Given the description of an element on the screen output the (x, y) to click on. 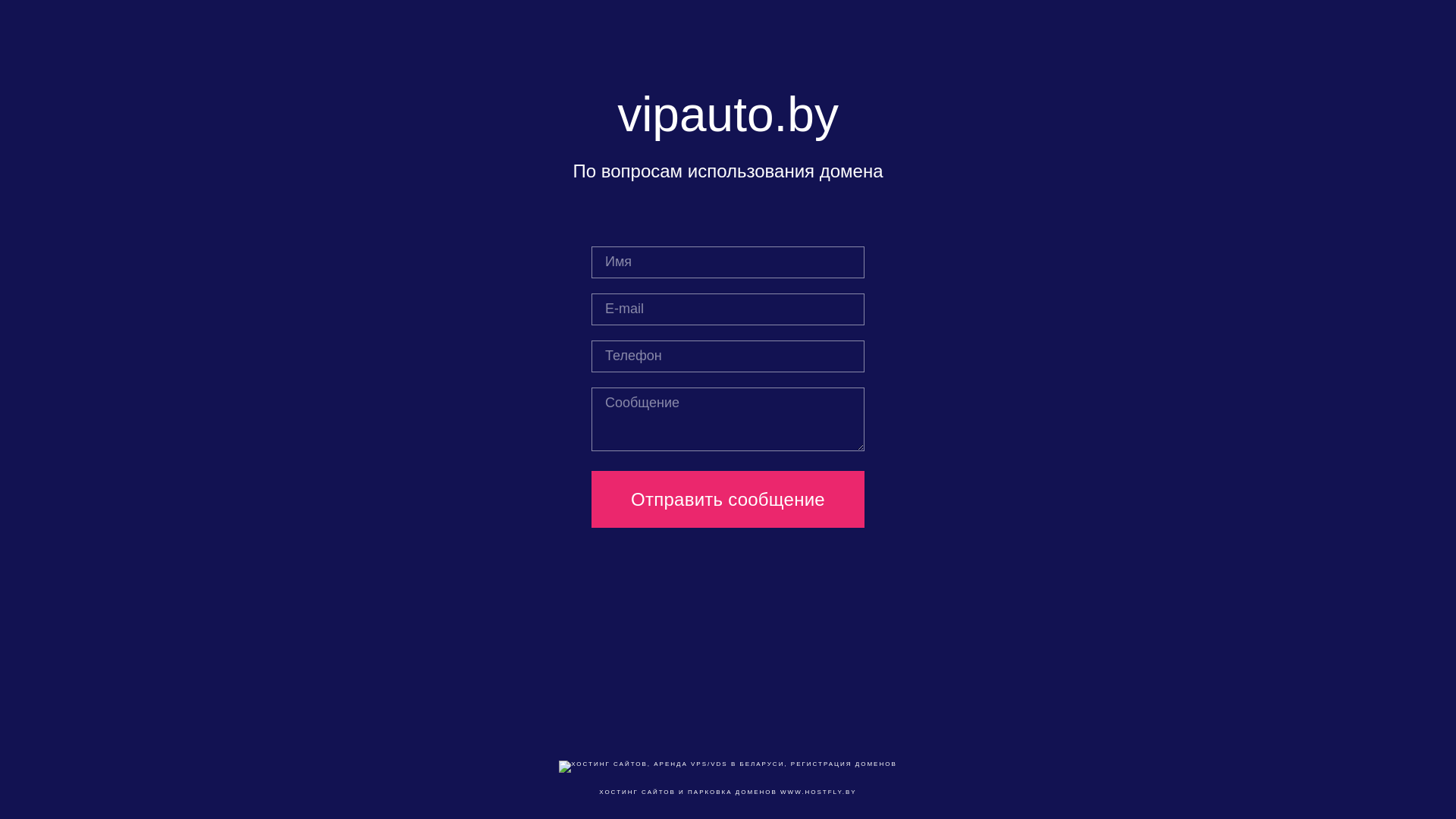
WWW.HOSTFLY.BY Element type: text (818, 791)
